Given the description of an element on the screen output the (x, y) to click on. 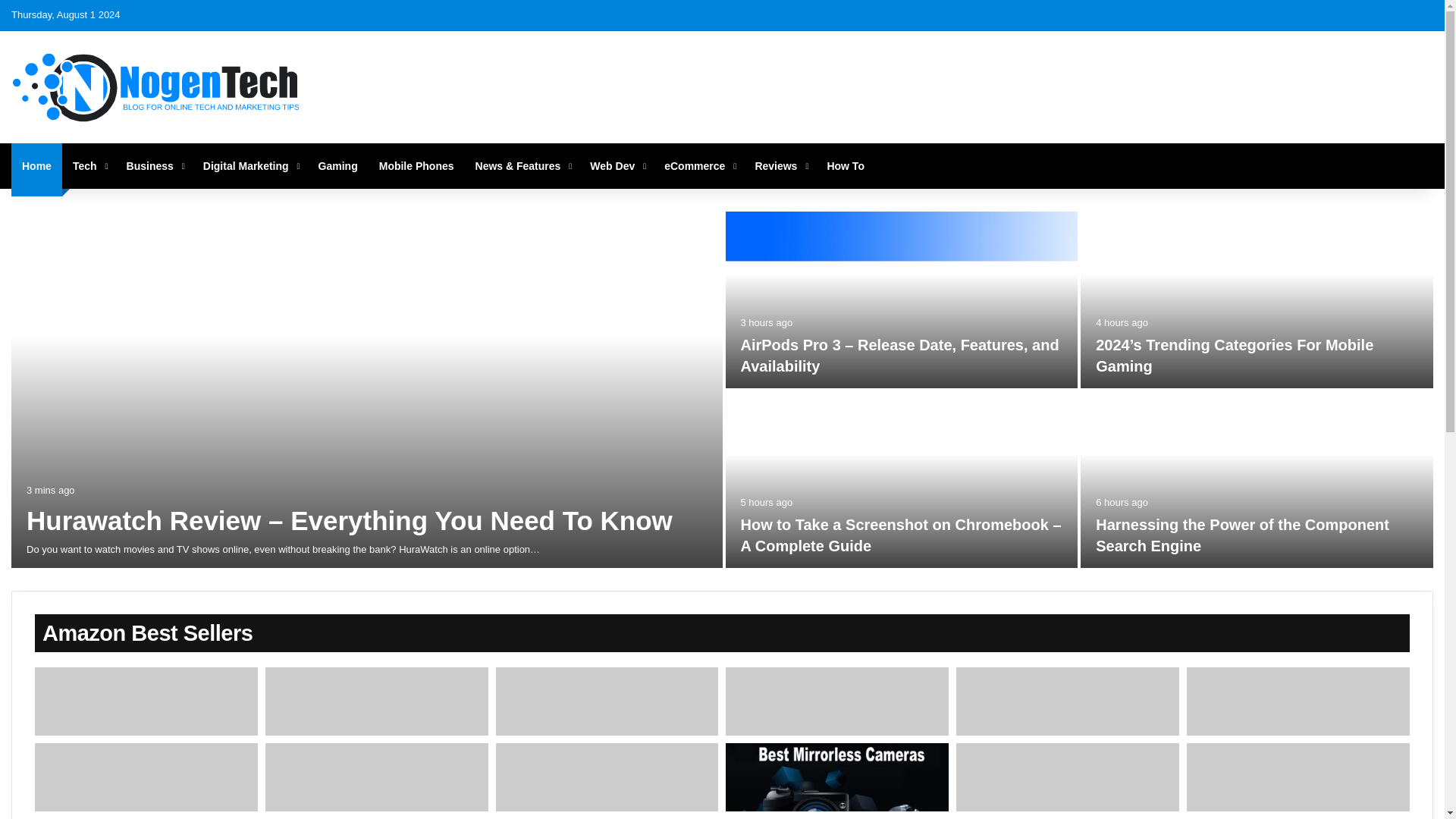
NogenTech.org (156, 86)
Mobile Phones (416, 166)
Business (154, 166)
Tech (89, 166)
Gaming (337, 166)
Home (36, 166)
Digital Marketing (249, 166)
